Given the description of an element on the screen output the (x, y) to click on. 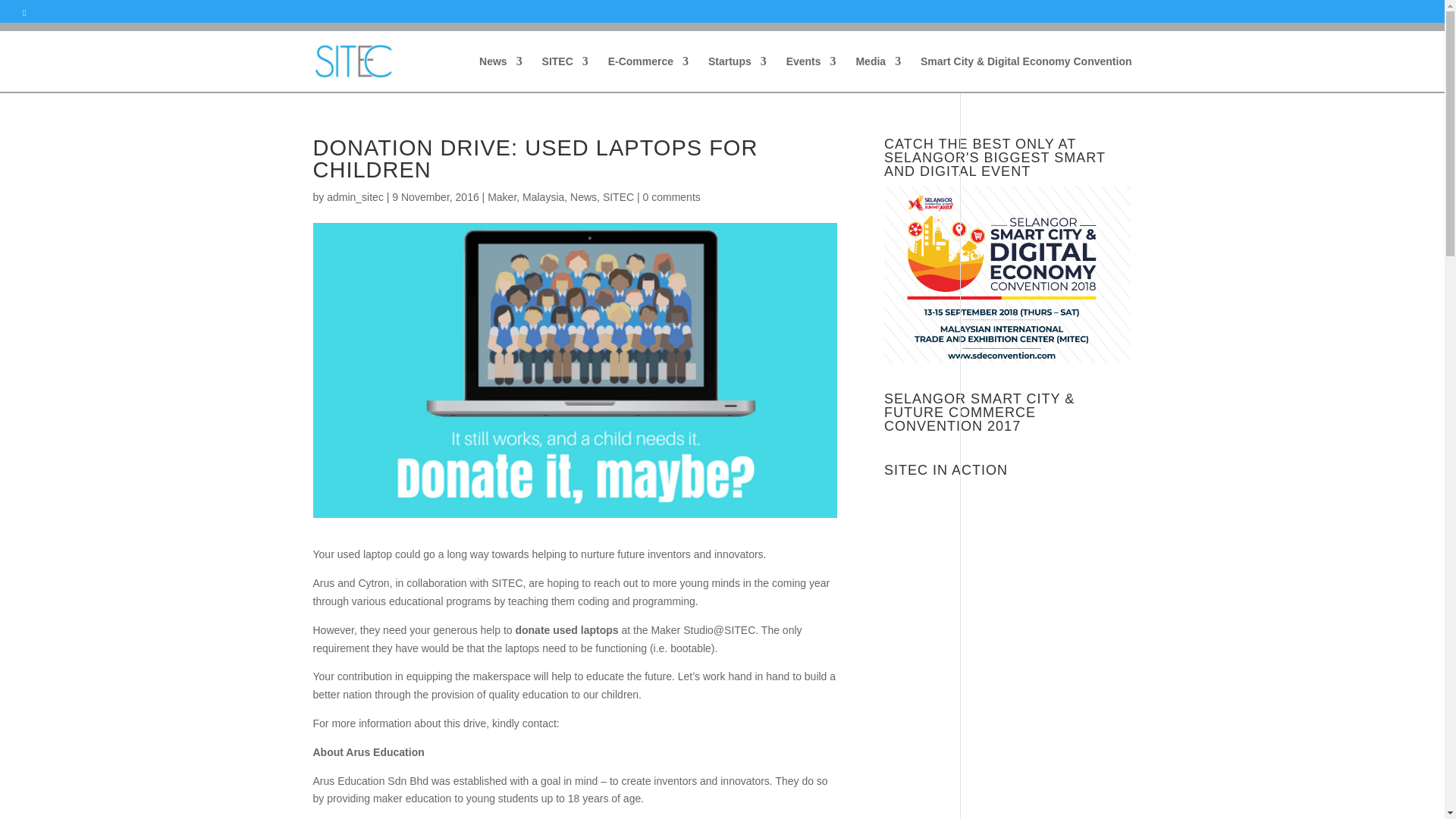
News (500, 73)
E-Commerce (648, 73)
Events (810, 73)
SITEC (564, 73)
Startups (737, 73)
